Given the description of an element on the screen output the (x, y) to click on. 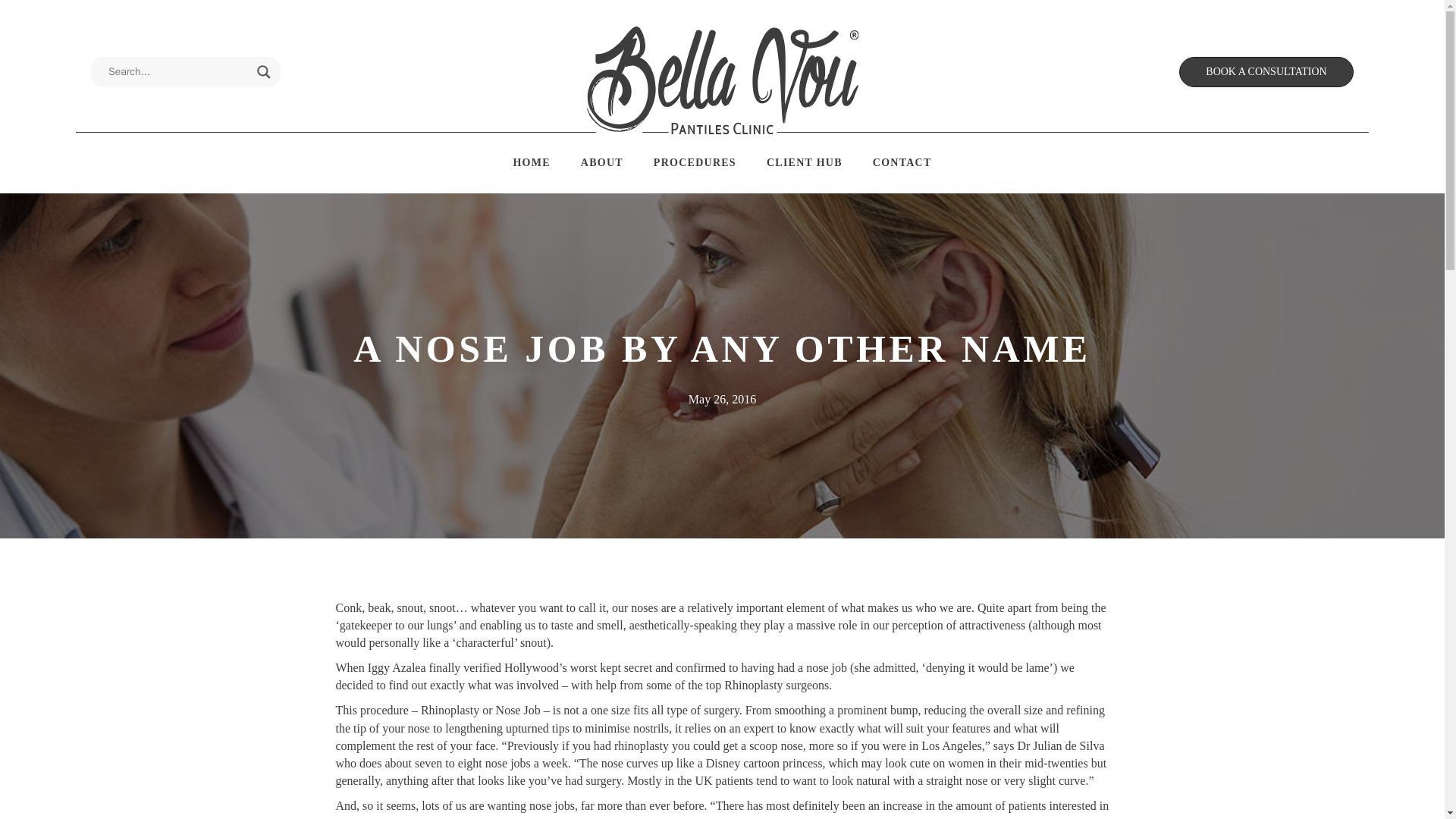
BOOK A CONSULTATION (1266, 71)
ABOUT (601, 163)
HOME (531, 163)
PROCEDURES (695, 163)
